Given the description of an element on the screen output the (x, y) to click on. 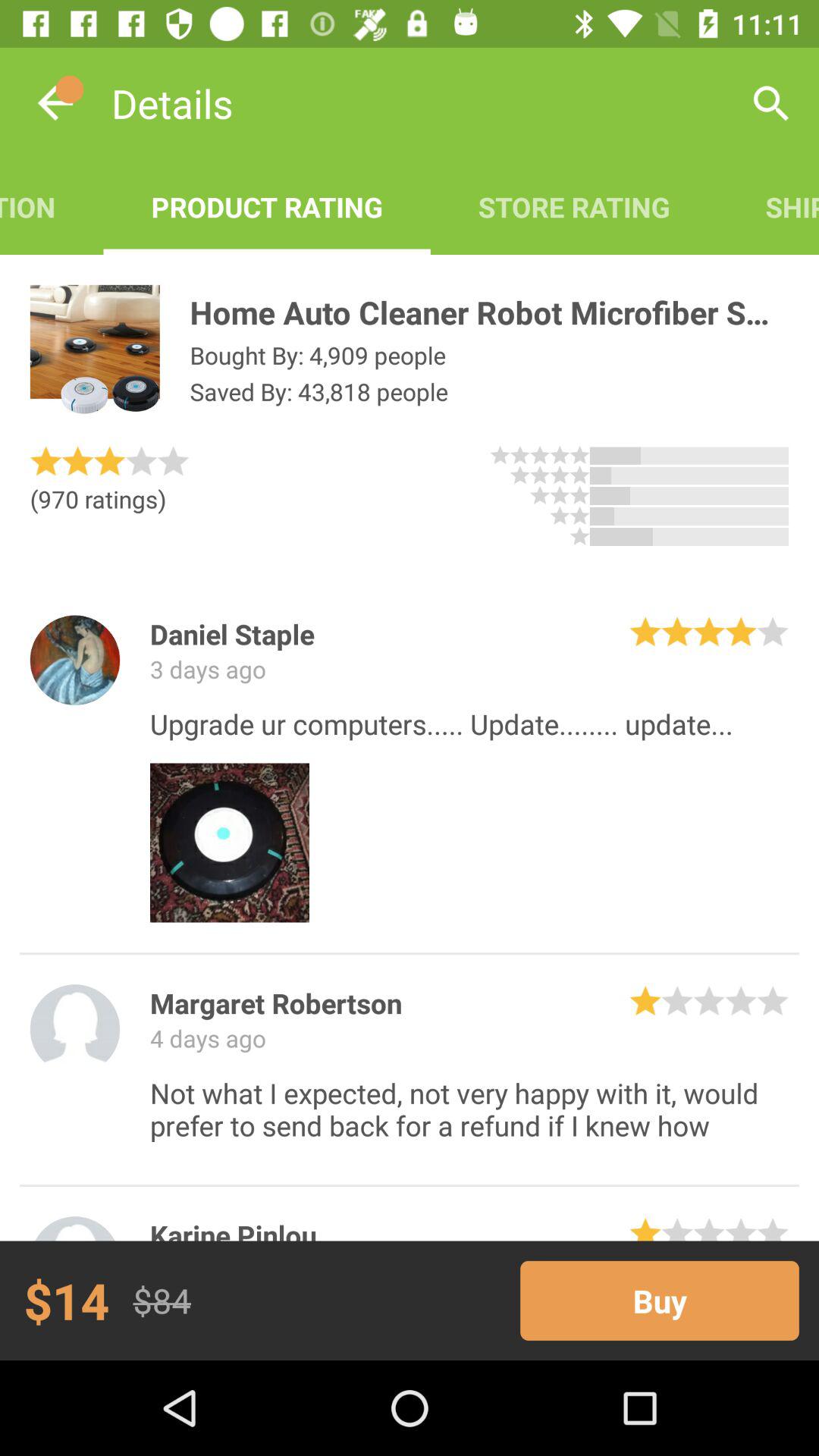
turn off icon below the details (51, 206)
